Given the description of an element on the screen output the (x, y) to click on. 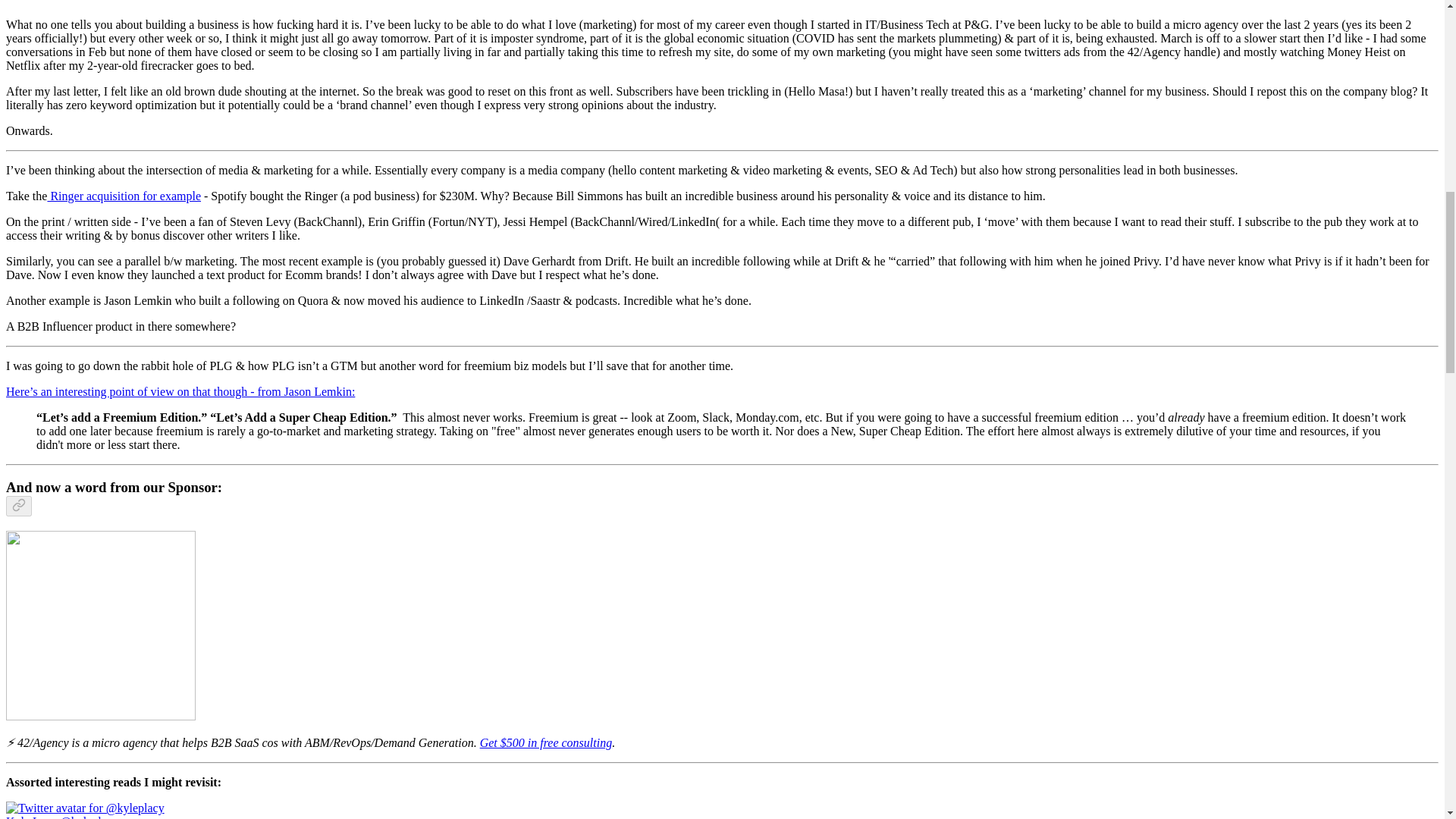
Ringer acquisition for example (123, 195)
